Given the description of an element on the screen output the (x, y) to click on. 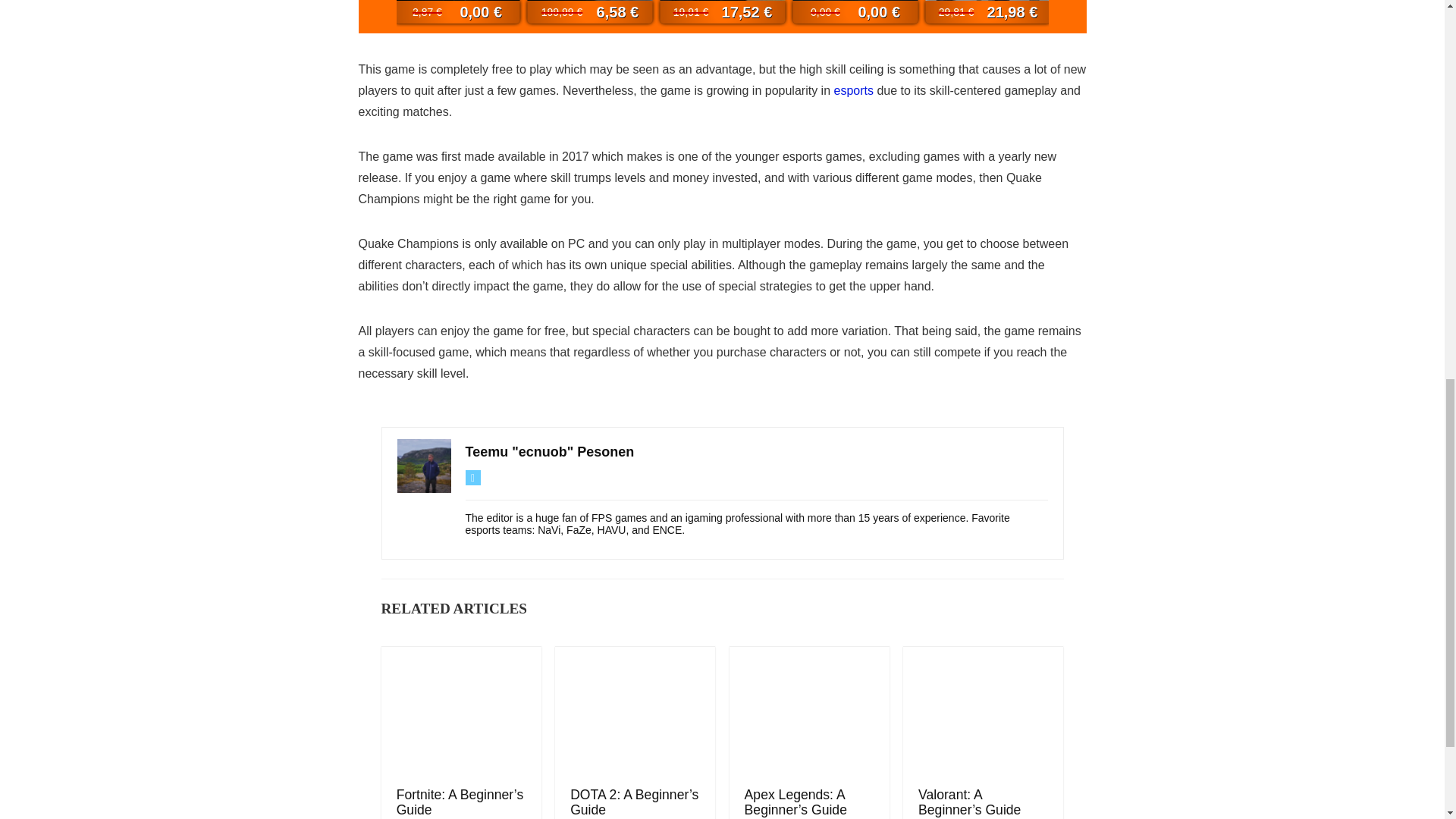
Teemu "ecnuob" Pesonen (549, 451)
Widget (722, 16)
esports (852, 90)
